Given the description of an element on the screen output the (x, y) to click on. 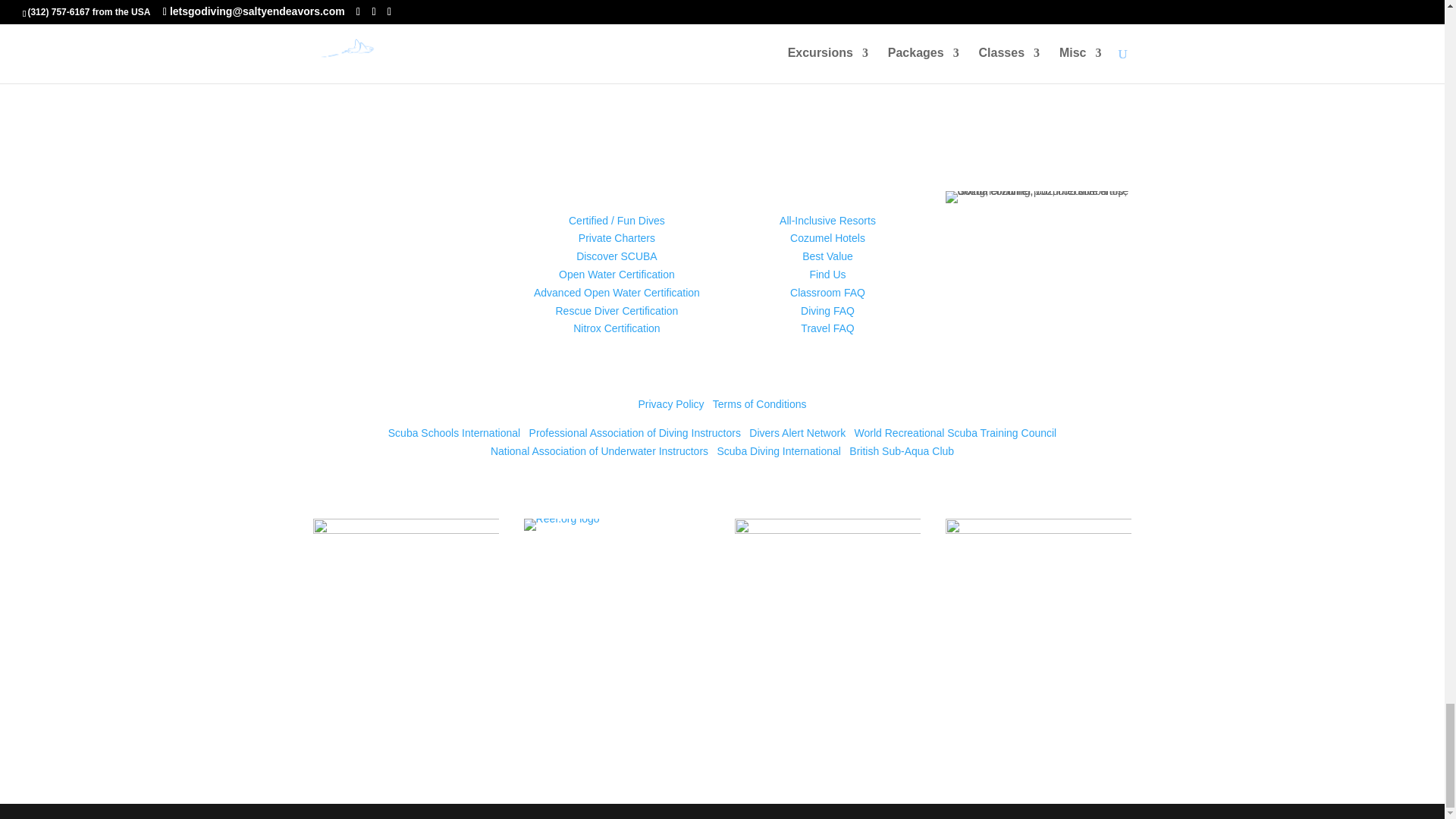
newREEFlogo (561, 524)
marine park (828, 611)
icare (1038, 611)
Stack White (406, 617)
